Given the description of an element on the screen output the (x, y) to click on. 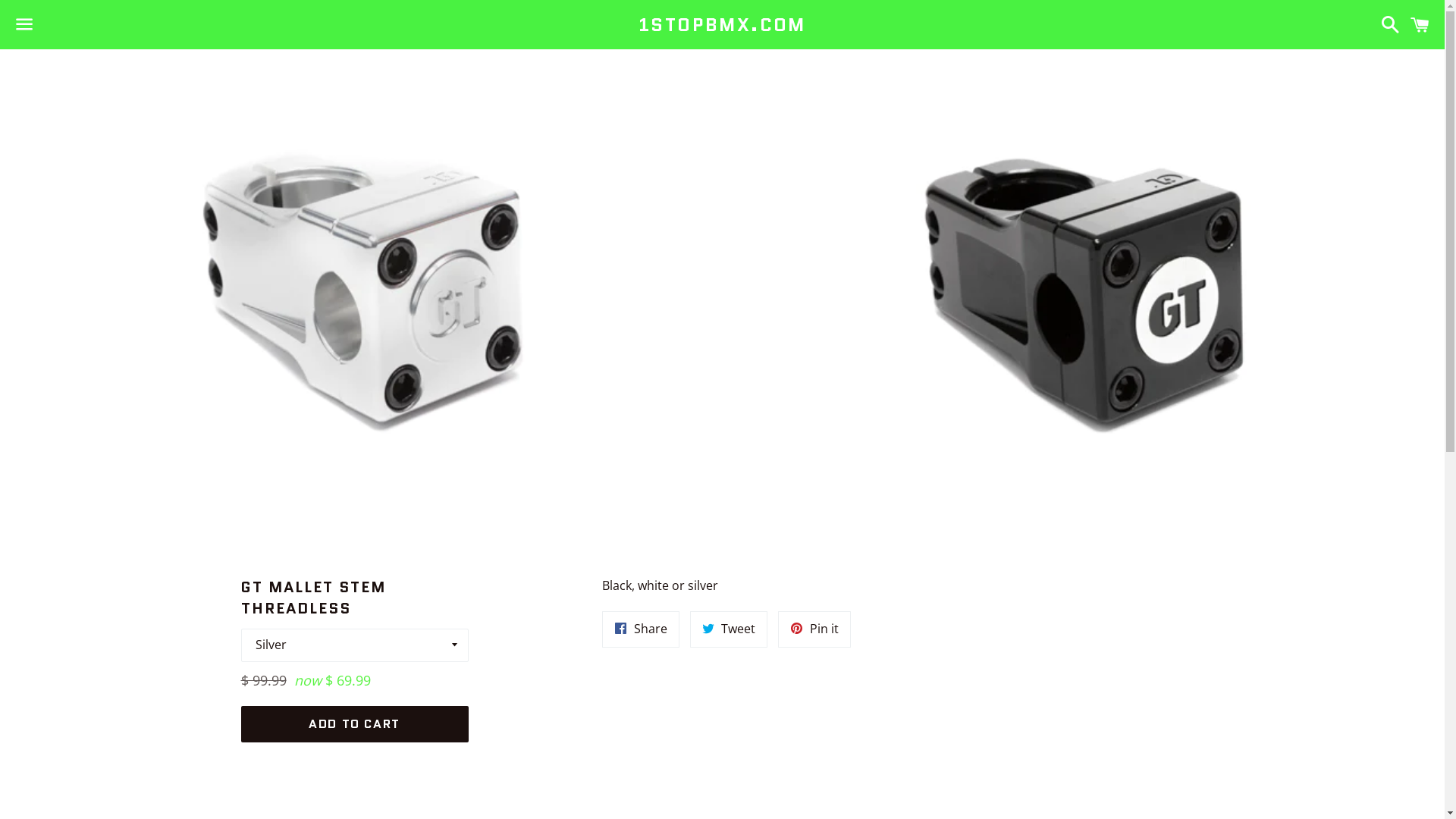
Cart Element type: text (1419, 24)
Tweet
Tweet on Twitter Element type: text (728, 629)
Pin it
Pin on Pinterest Element type: text (814, 629)
Search Element type: text (1386, 24)
ADD TO CART Element type: text (354, 724)
1STOPBMX.COM Element type: text (721, 24)
Menu Element type: text (24, 24)
Share
Share on Facebook Element type: text (640, 629)
